Given the description of an element on the screen output the (x, y) to click on. 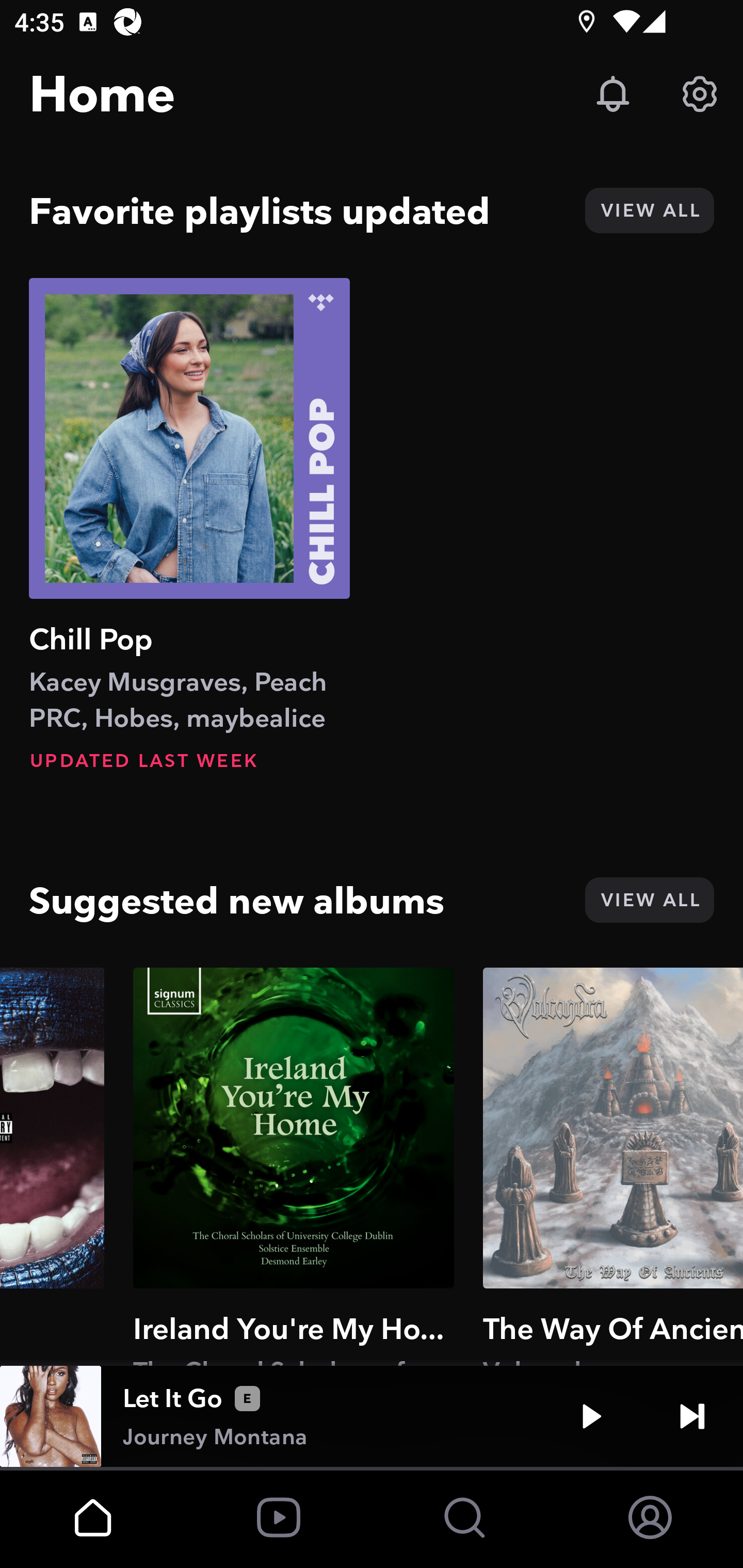
Updates (612, 93)
Settings (699, 93)
VIEW ALL (649, 210)
VIEW ALL (649, 899)
The Way Of Ancients Volcandra (612, 1166)
Let It Go    Journey Montana Play (371, 1416)
Play (590, 1416)
